Given the description of an element on the screen output the (x, y) to click on. 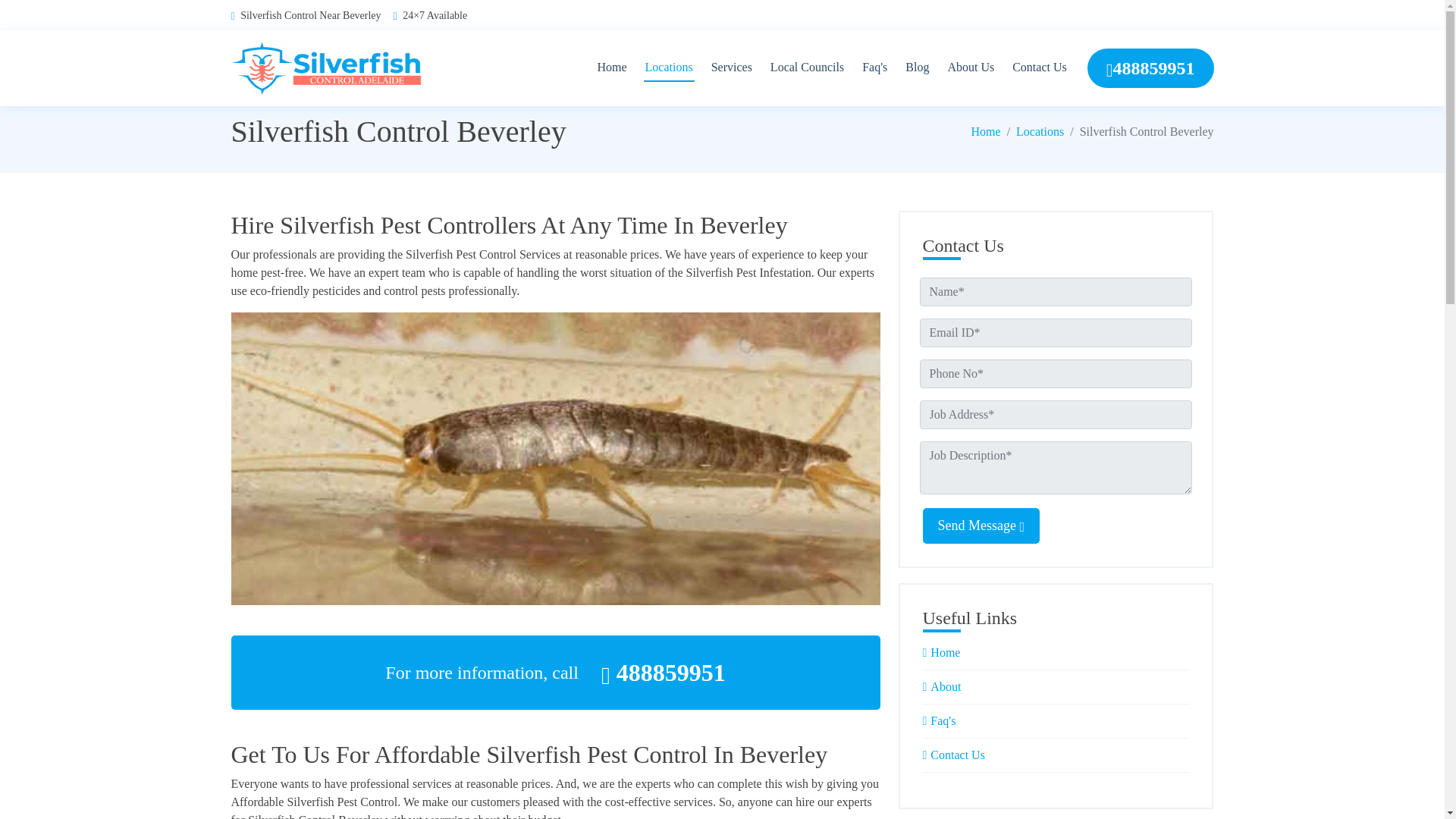
Contact Us (1039, 67)
Locations (668, 67)
488859951 (1150, 67)
Home (611, 67)
Contact Us (957, 755)
Faq's (942, 720)
About Us (969, 67)
Locations (668, 67)
488859951 (663, 672)
Locations (1040, 131)
